Given the description of an element on the screen output the (x, y) to click on. 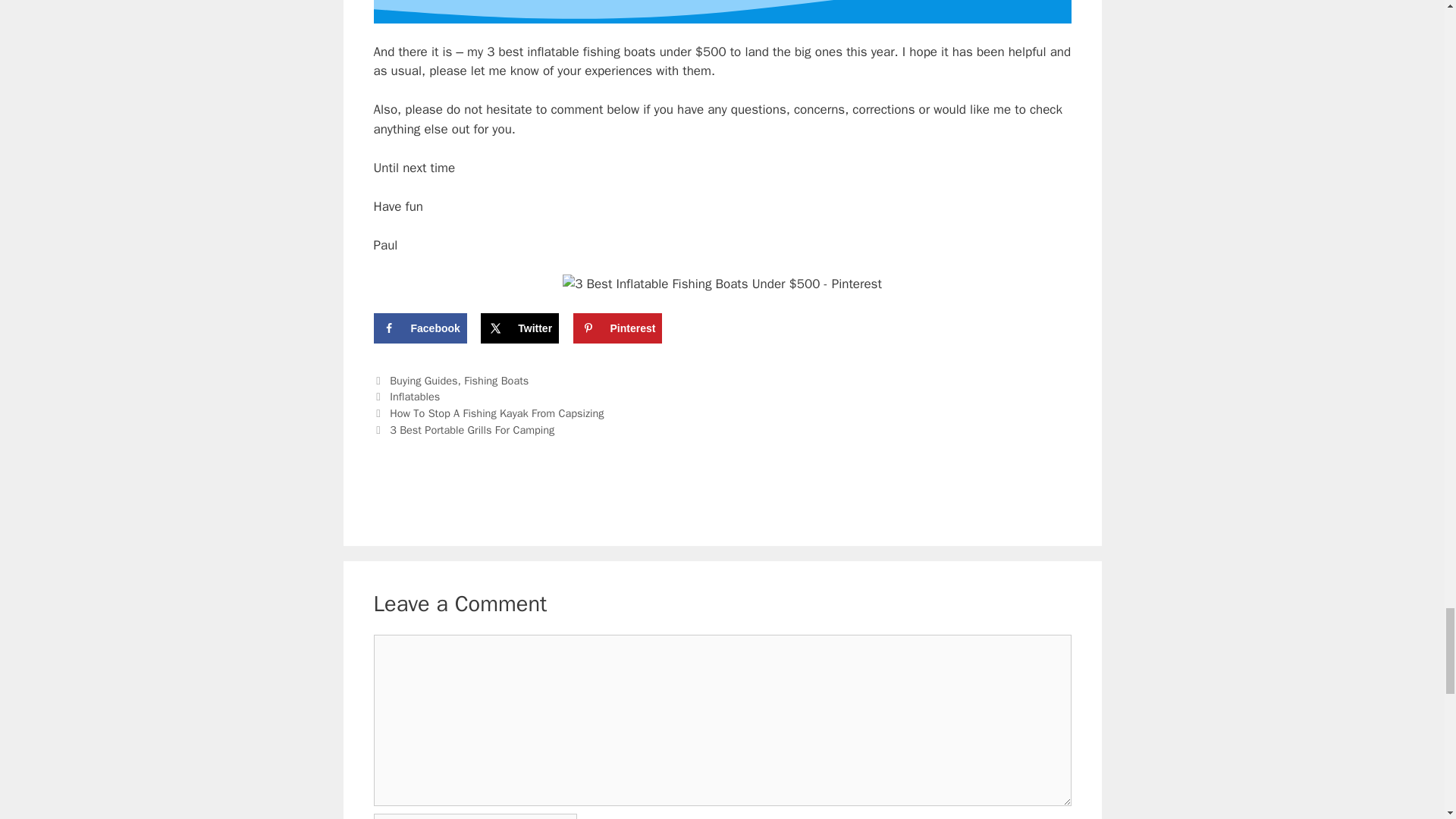
Share on X (519, 327)
Share on Facebook (418, 327)
Save to Pinterest (617, 327)
